Given the description of an element on the screen output the (x, y) to click on. 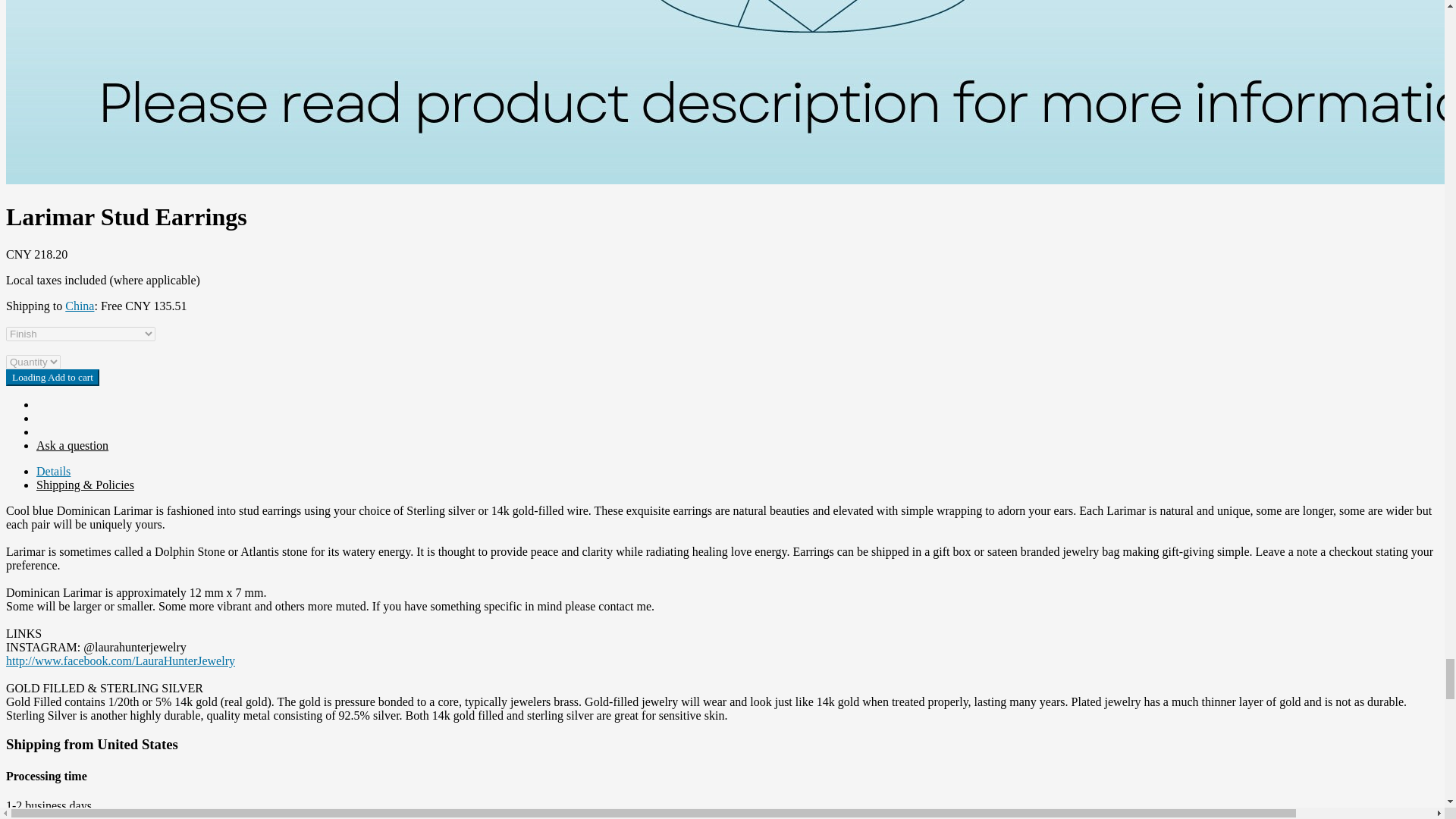
China (79, 305)
Loading Add to cart (52, 377)
Details (52, 471)
Ask a question (71, 445)
